Given the description of an element on the screen output the (x, y) to click on. 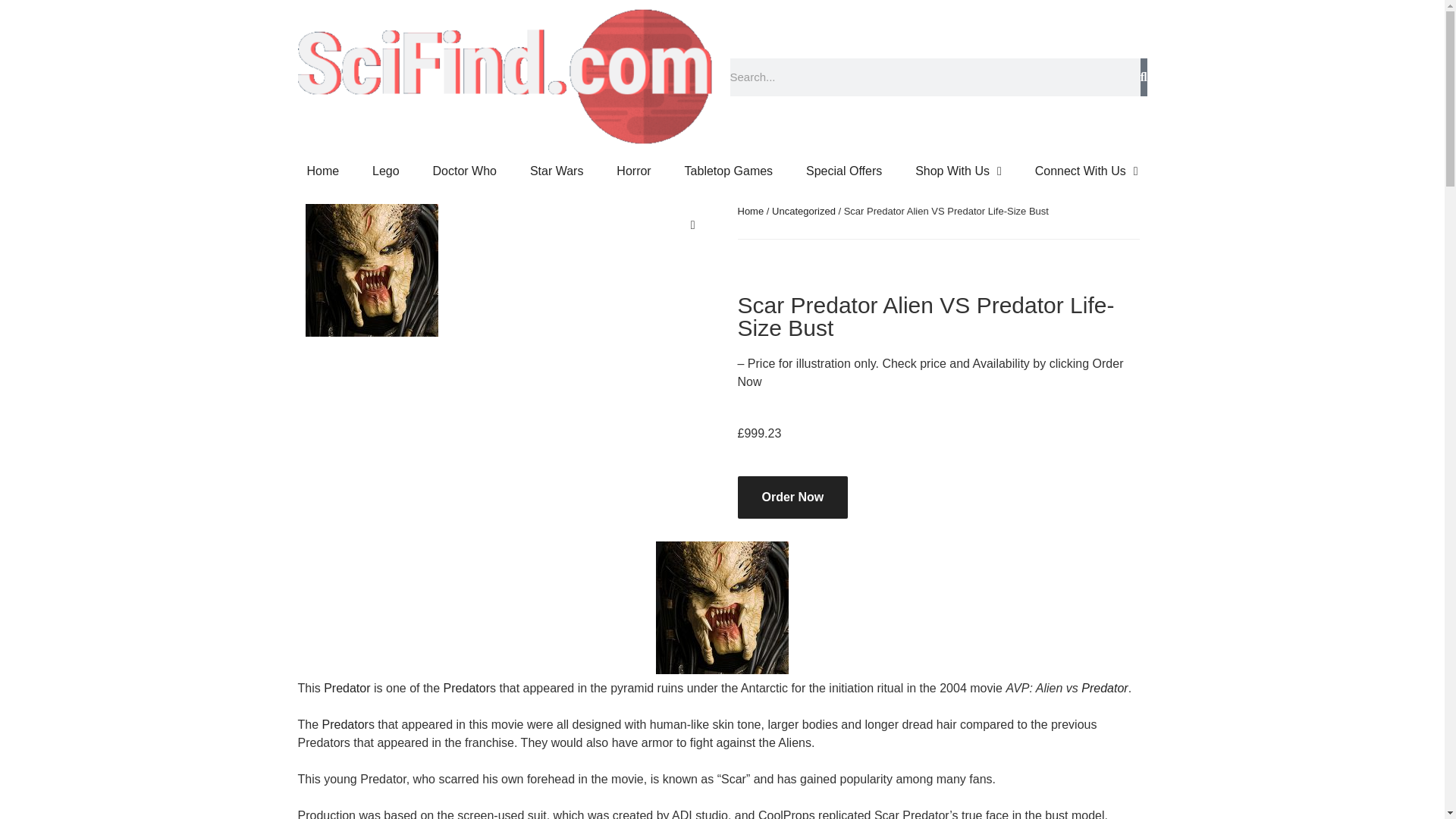
Uncategorized (803, 211)
Doctor Who (464, 171)
Order Now (791, 496)
Scar Predator Alien VS Predator Life-Size Bust (722, 607)
Special Offers (843, 171)
Home (749, 211)
Tabletop Games (728, 171)
Horror (632, 171)
Connect With Us (1085, 171)
Predator (346, 687)
Home (322, 171)
Shop With Us (957, 171)
Lego (385, 171)
Star Wars (556, 171)
Scar Predator Alien VS Predator Life-Size Bust (371, 269)
